Given the description of an element on the screen output the (x, y) to click on. 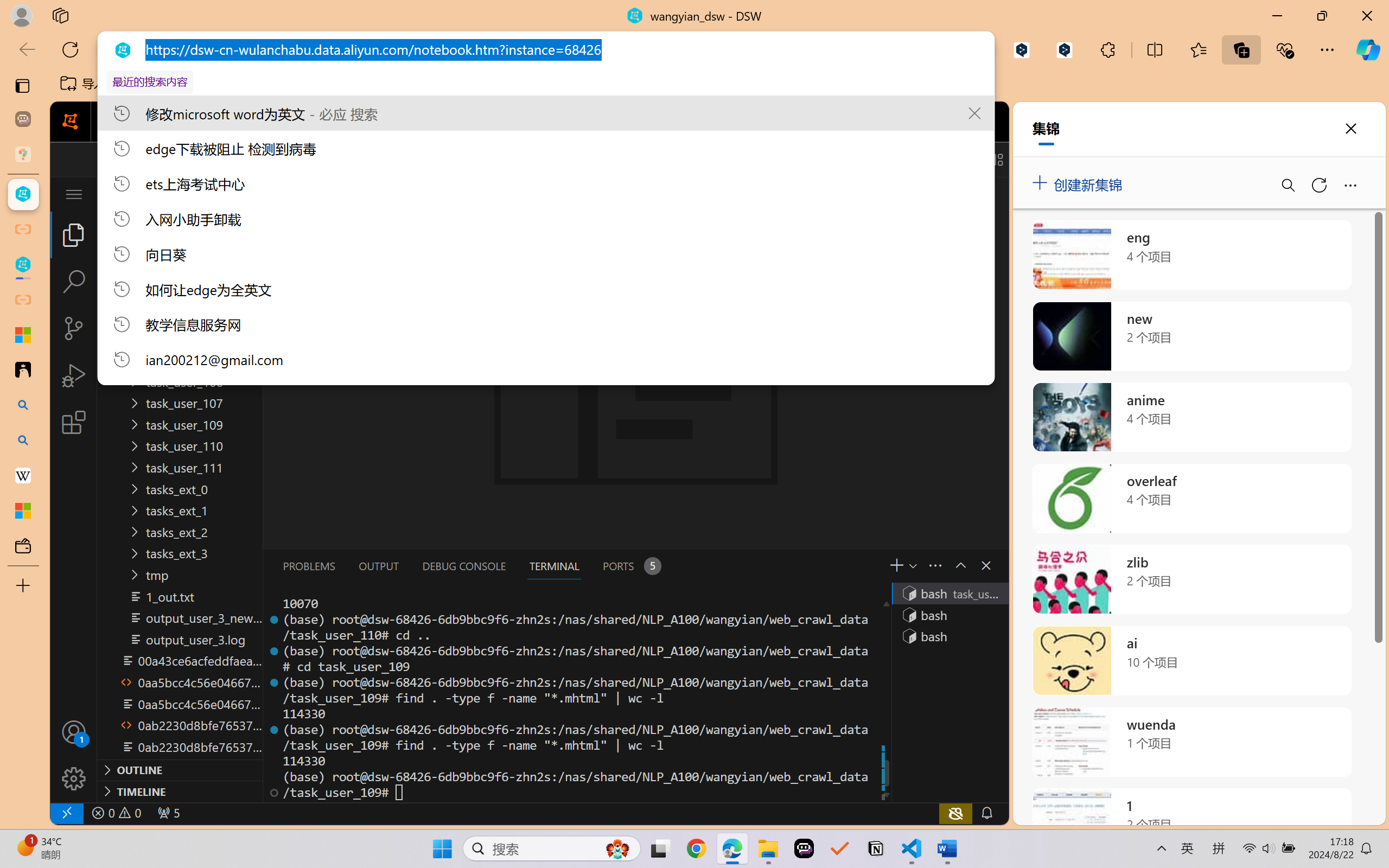
Customize Layout... (995, 159)
Terminal (Ctrl+`) (553, 565)
Terminal actions (812, 565)
Application Menu (73, 194)
remote (66, 812)
Forwarded Ports: 36301, 47065, 38781, 45817, 50331 (167, 812)
